Given the description of an element on the screen output the (x, y) to click on. 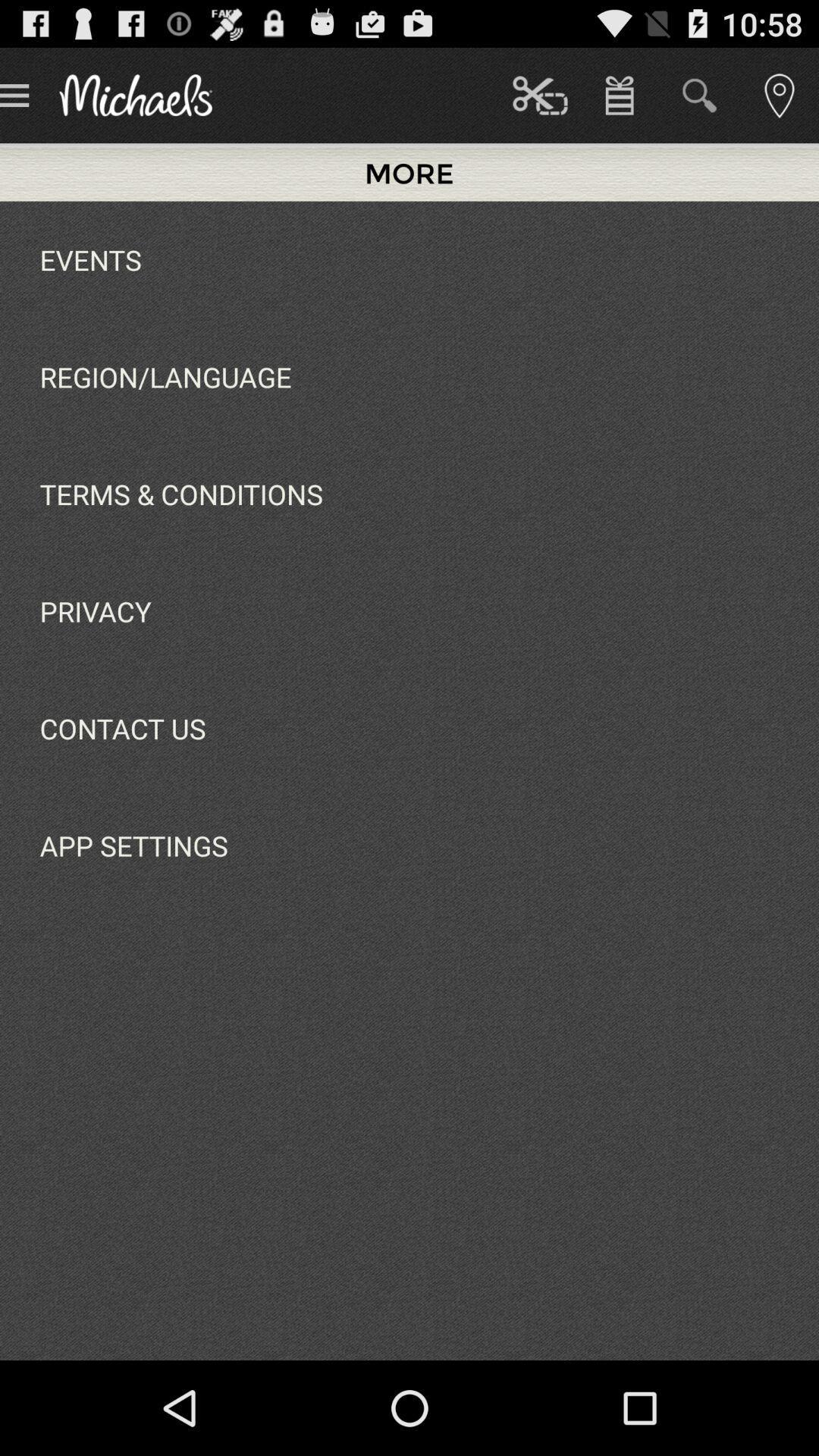
jump until the region/language app (165, 376)
